Given the description of an element on the screen output the (x, y) to click on. 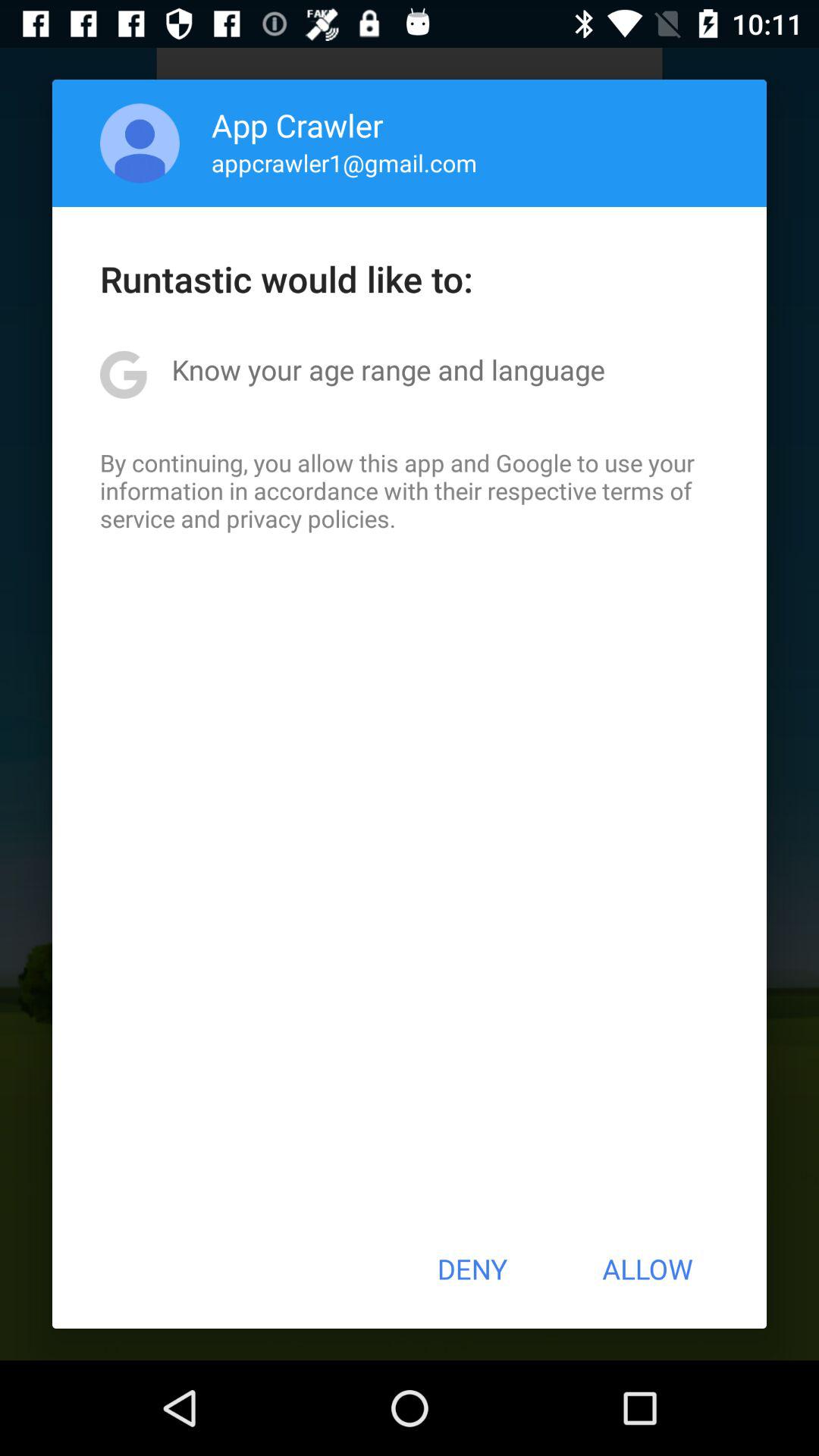
click item below the app crawler icon (344, 162)
